Given the description of an element on the screen output the (x, y) to click on. 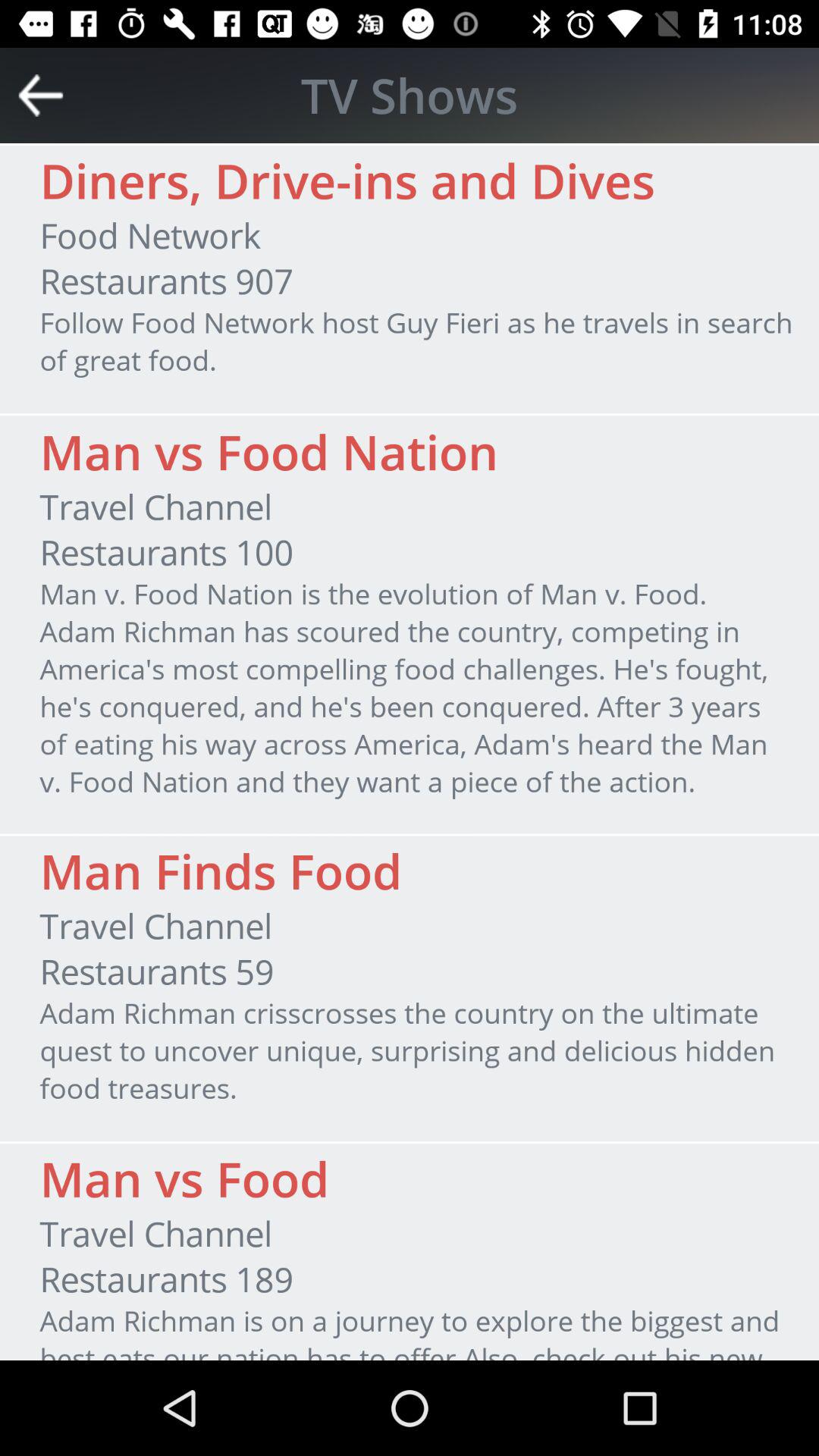
turn on the item above adam richman is item (166, 1278)
